Given the description of an element on the screen output the (x, y) to click on. 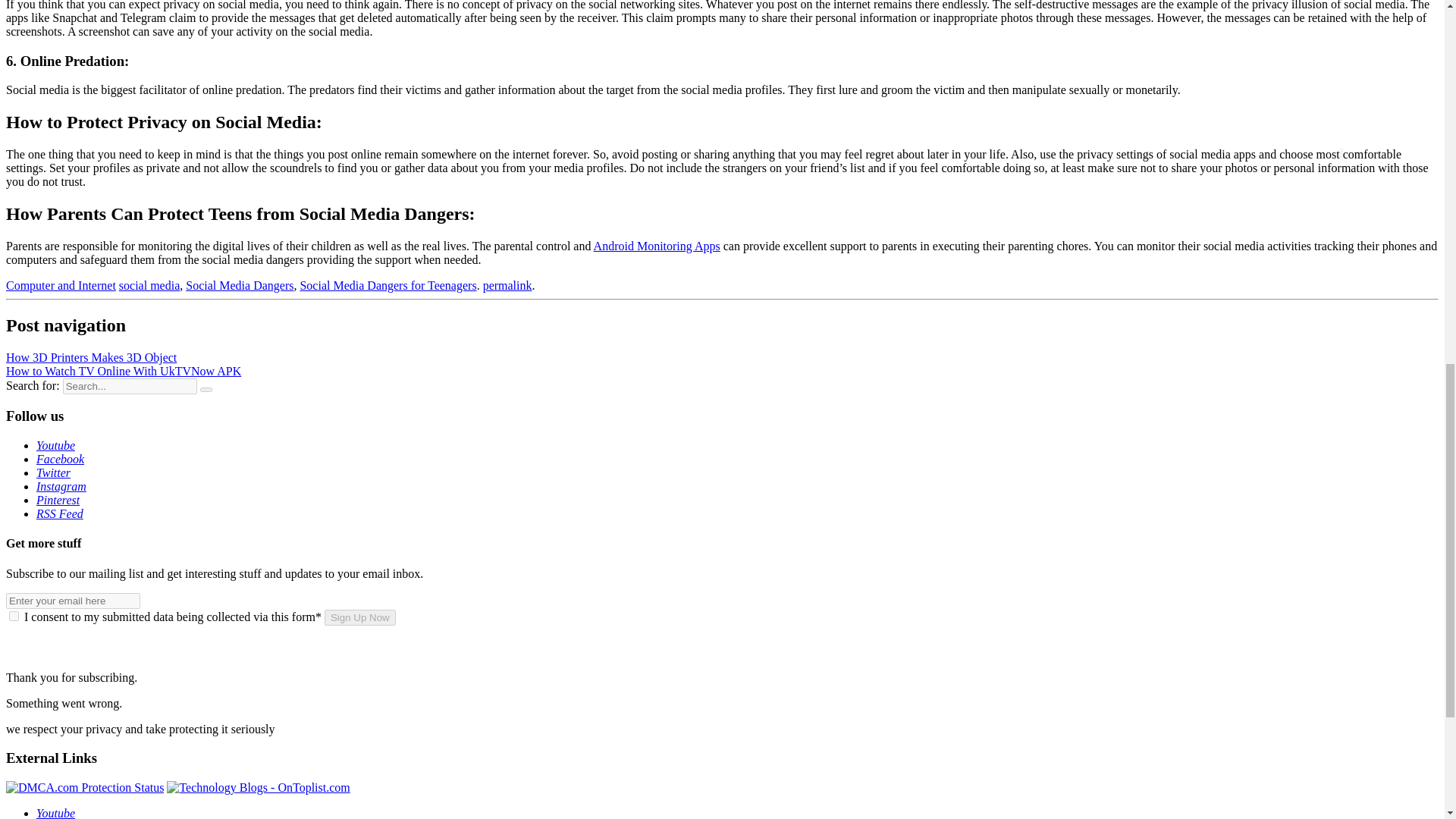
RSS Feed (59, 513)
Pinterest (58, 499)
Sign Up Now (360, 617)
Instagram (60, 486)
Twitter (52, 472)
Android Monitoring Apps (657, 245)
Social Media Dangers (240, 285)
Search (206, 389)
How 3D Printers Makes 3D Object (90, 357)
DMCA.com Protection Status (84, 787)
Social Media Dangers for Teenagers (387, 285)
permalink (507, 285)
social media (149, 285)
Youtube (55, 445)
Sign Up Now (360, 617)
